Given the description of an element on the screen output the (x, y) to click on. 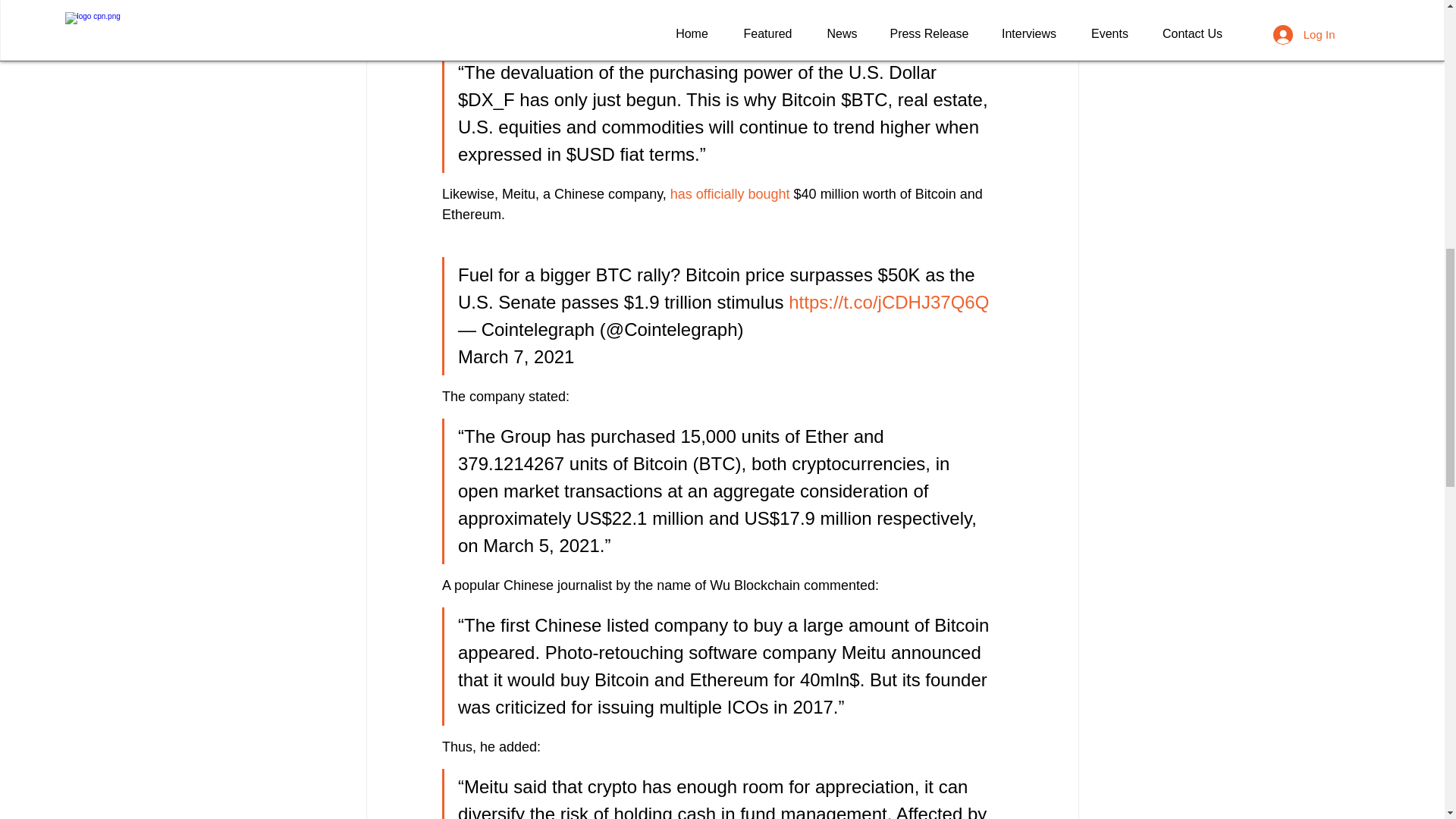
has officially bought (729, 193)
